Given the description of an element on the screen output the (x, y) to click on. 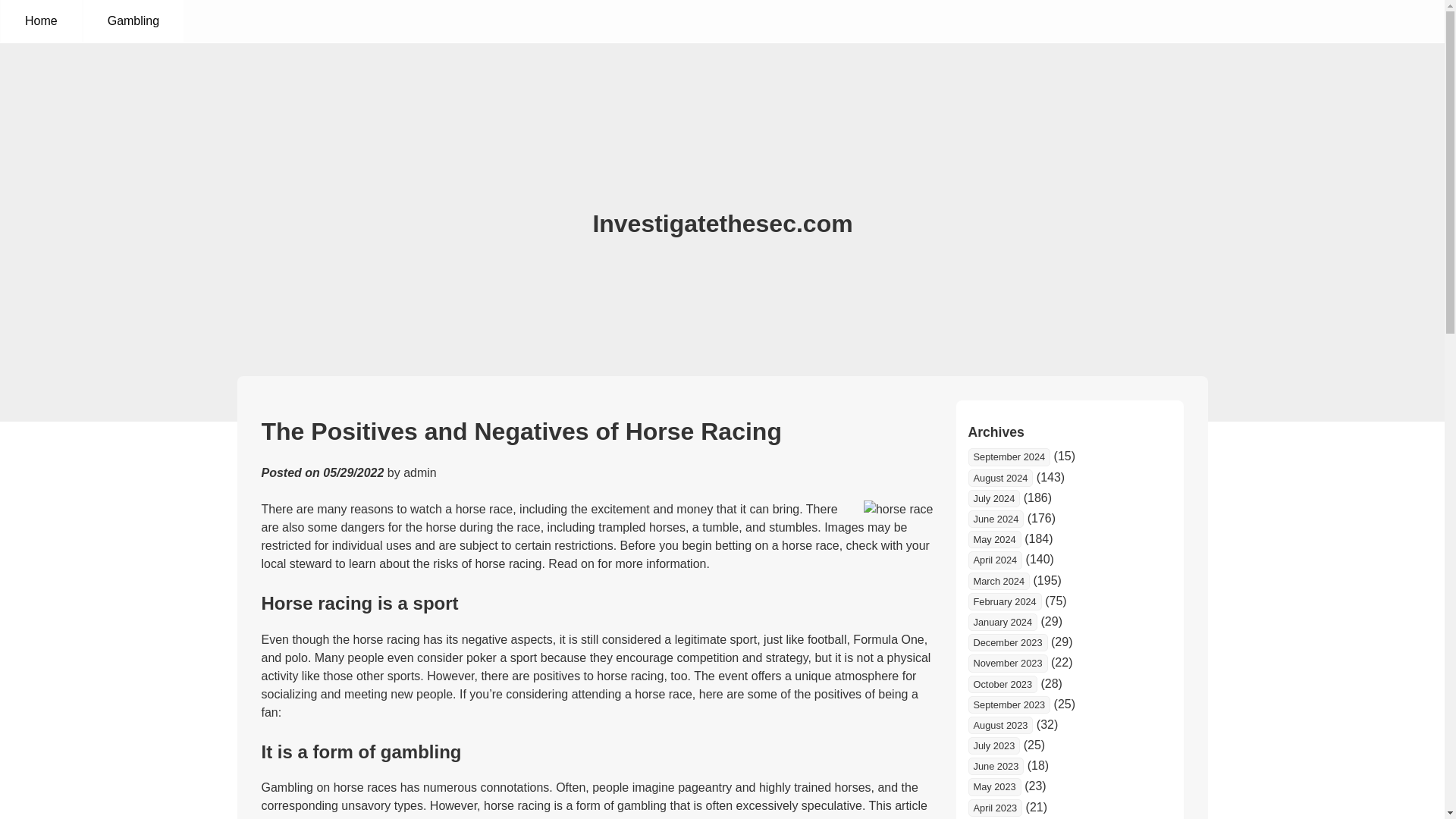
July 2024 (994, 497)
November 2023 (1007, 662)
March 2024 (998, 580)
August 2024 (1000, 477)
January 2024 (1002, 621)
April 2024 (995, 559)
Home (41, 21)
July 2023 (994, 745)
September 2024 (1008, 456)
December 2023 (1007, 642)
